Given the description of an element on the screen output the (x, y) to click on. 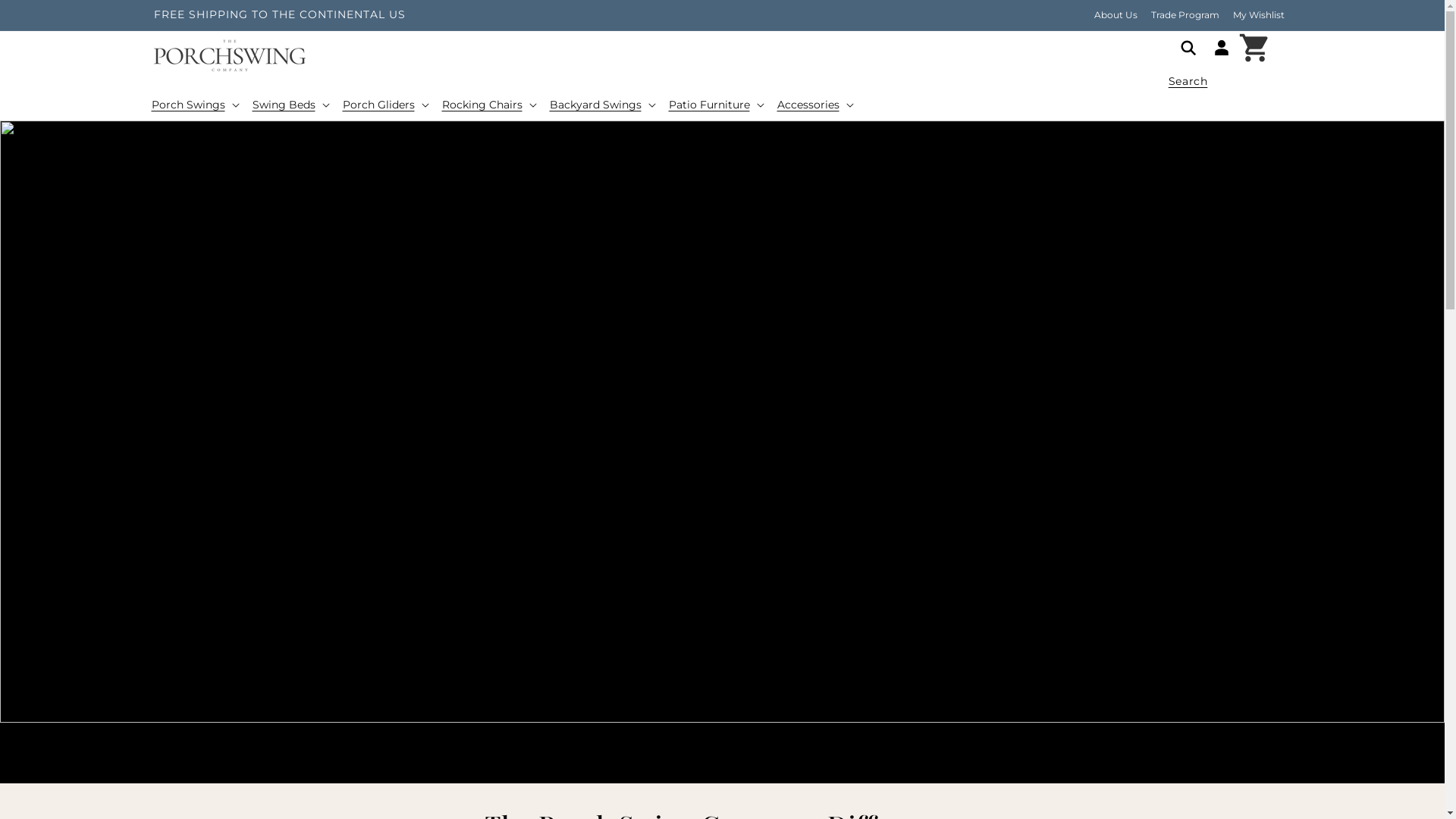
Skip to content (45, 17)
Trade Program (1183, 15)
About Us (1115, 15)
My Wishlist (1257, 15)
